Given the description of an element on the screen output the (x, y) to click on. 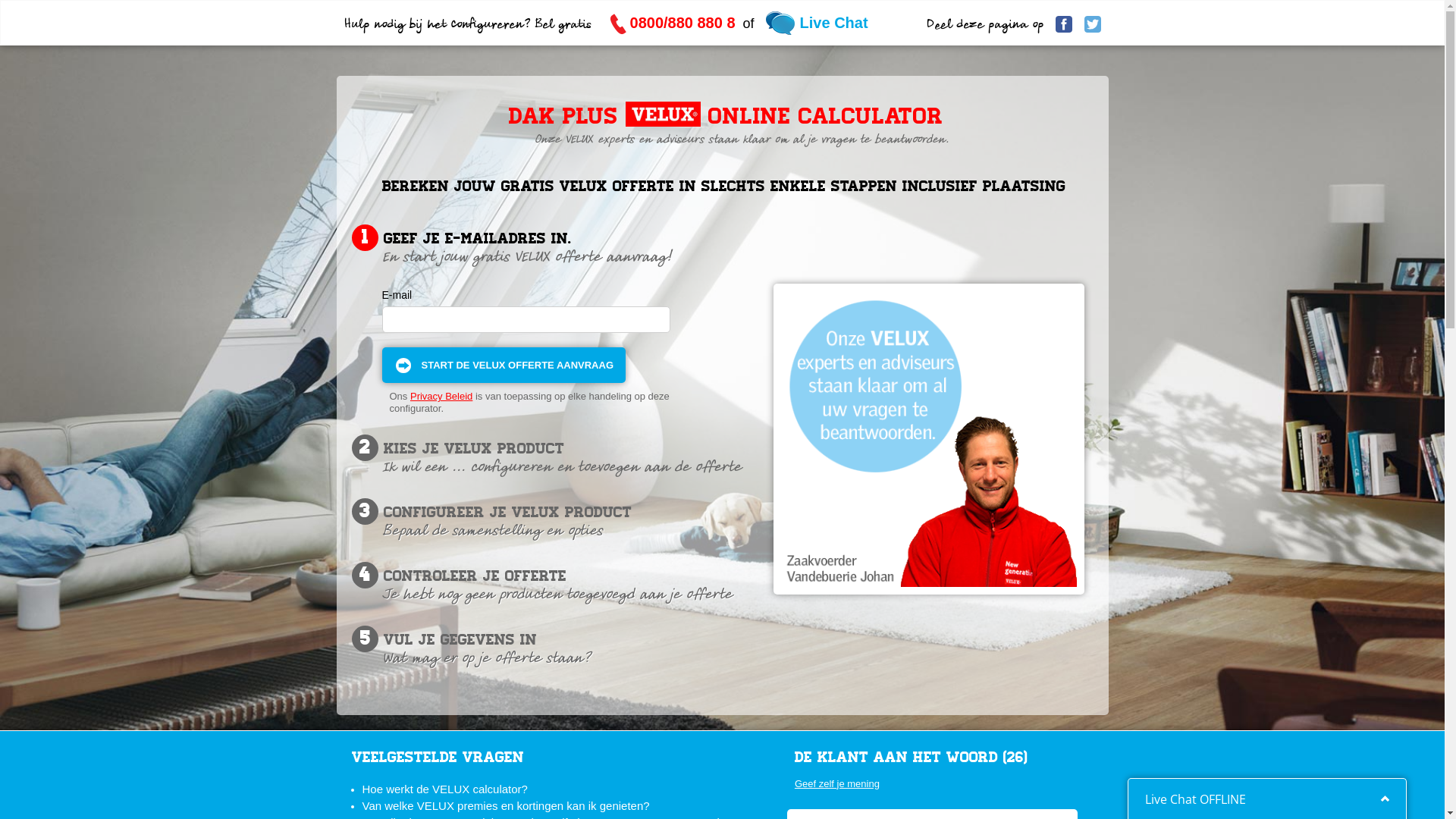
Van welke VELUX premies en kortingen kan ik genieten? Element type: text (505, 805)
Live Chat Element type: text (816, 22)
Privacy Beleid Element type: text (441, 395)
Start de VELUX offerte aanvraag Element type: text (504, 364)
Hoe werkt de VELUX calculator? Element type: text (444, 788)
DAK PLUS uw expert en adviseur in VELUX dakramen! Element type: hover (928, 438)
0800/880 880 8 Element type: text (672, 22)
Geef zelf je mening Element type: text (935, 783)
